Given the description of an element on the screen output the (x, y) to click on. 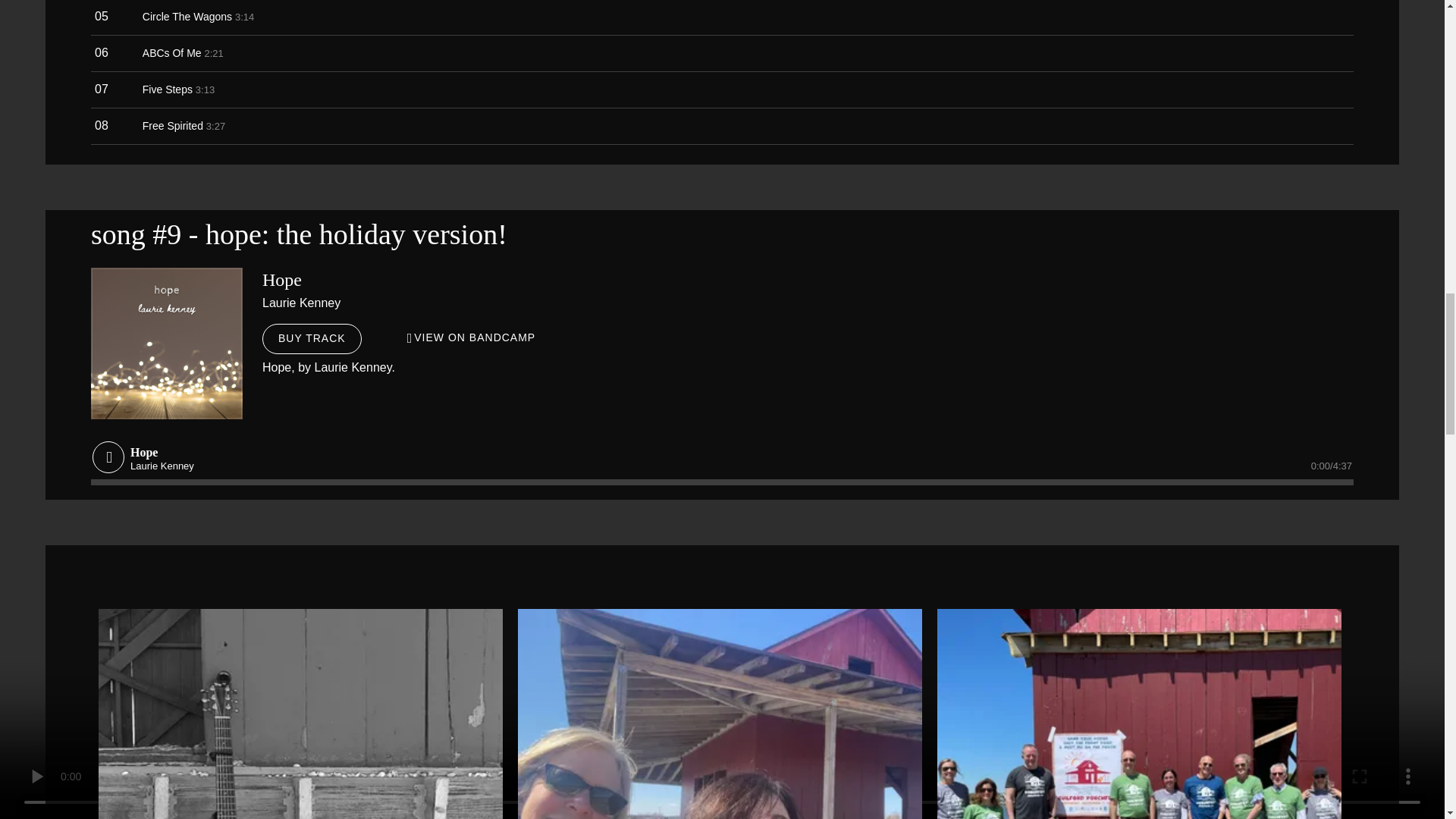
ABCs Of Me (172, 53)
Circle The Wagons (186, 17)
